Given the description of an element on the screen output the (x, y) to click on. 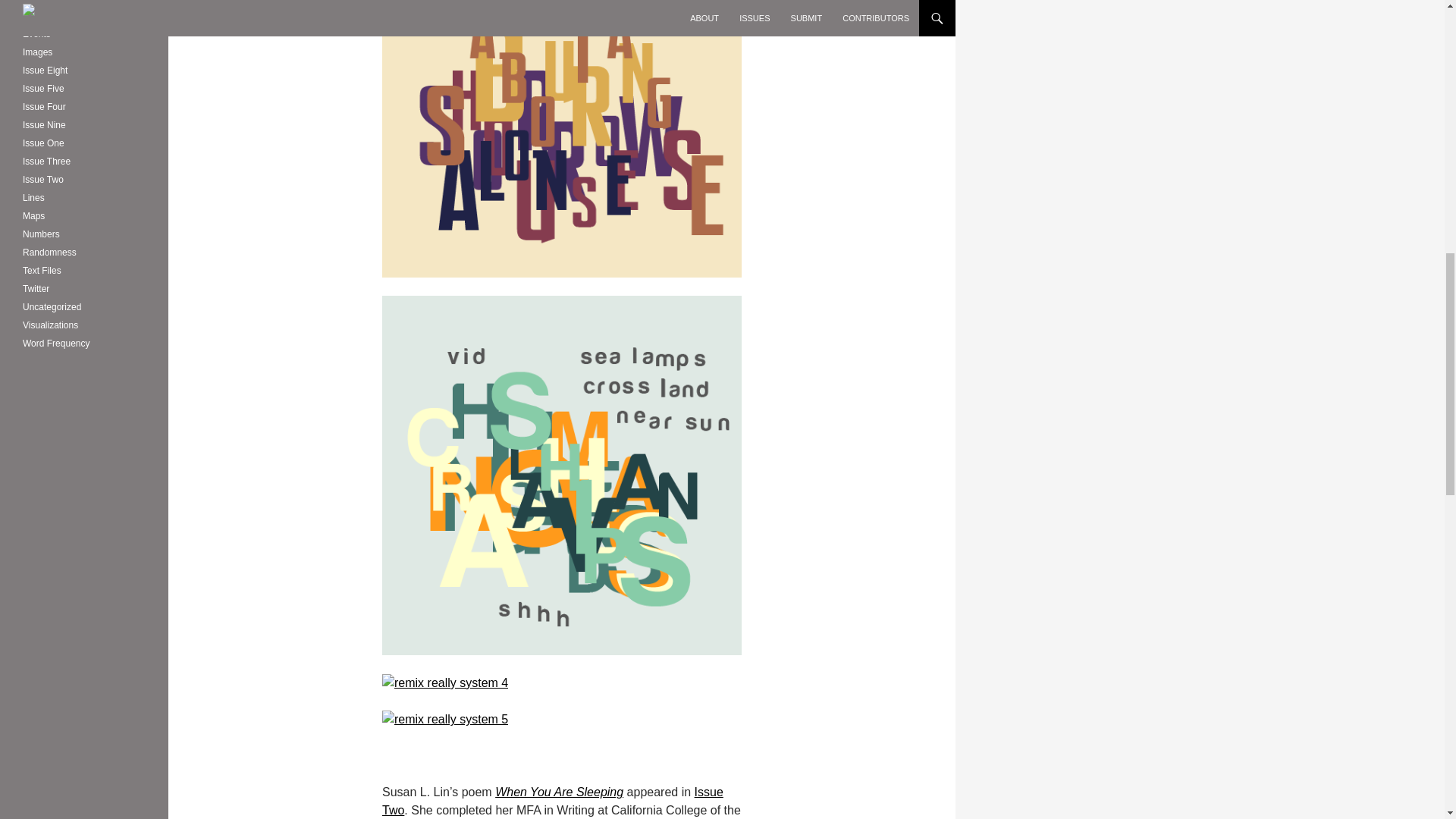
Issue Two (552, 800)
When You Are Sleeping (559, 791)
